Given the description of an element on the screen output the (x, y) to click on. 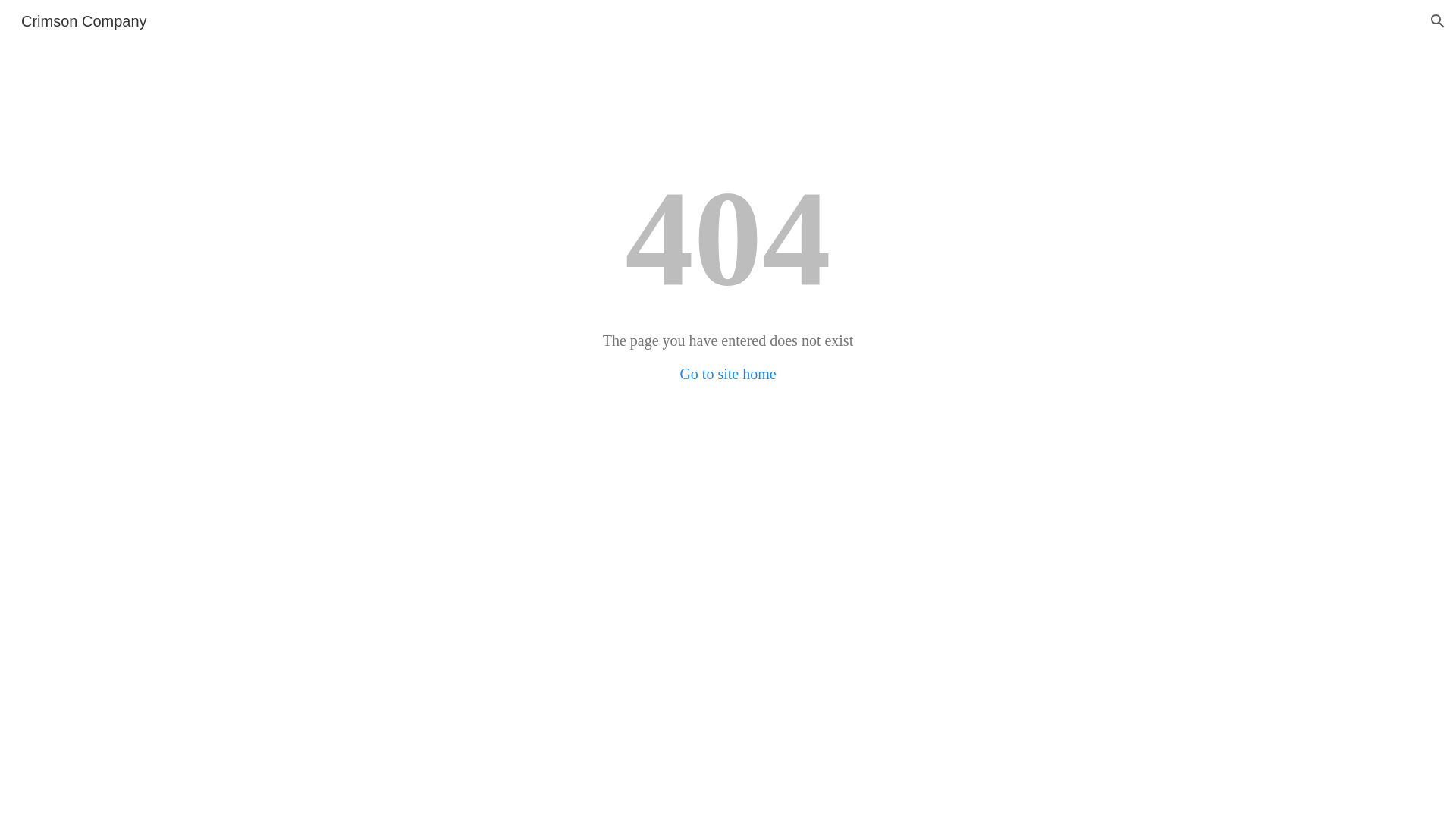
Crimson Company Element type: text (84, 19)
Go to site home Element type: text (727, 373)
